Given the description of an element on the screen output the (x, y) to click on. 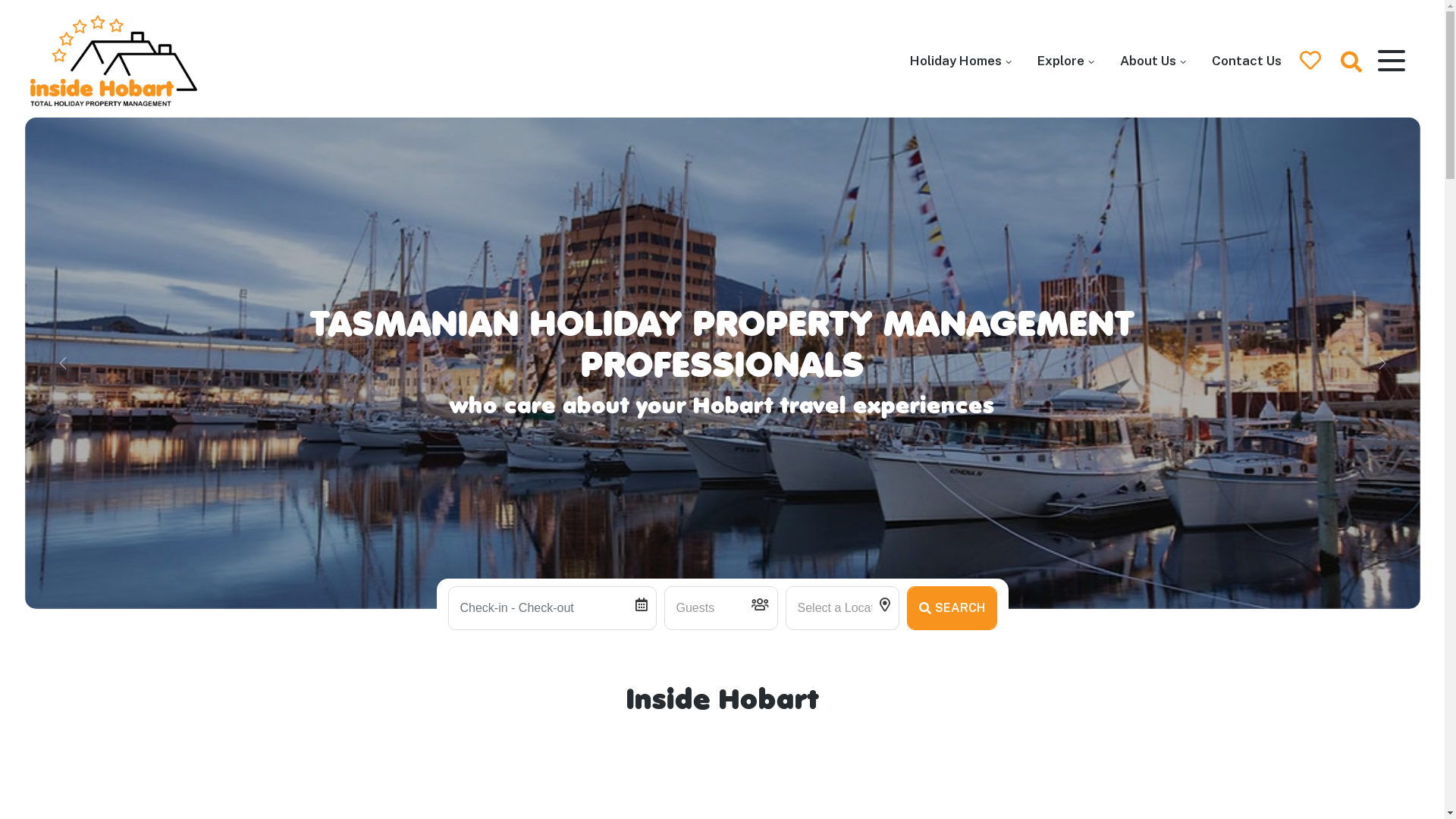
About Us Element type: text (1153, 60)
Explore Element type: text (1065, 60)
Contact Us Element type: text (1246, 60)
Previous Element type: text (62, 362)
SEARCH Element type: text (951, 608)
Inside Hobart Element type: text (61, 135)
Holiday Homes Element type: text (960, 60)
Next Element type: text (1381, 362)
